Given the description of an element on the screen output the (x, y) to click on. 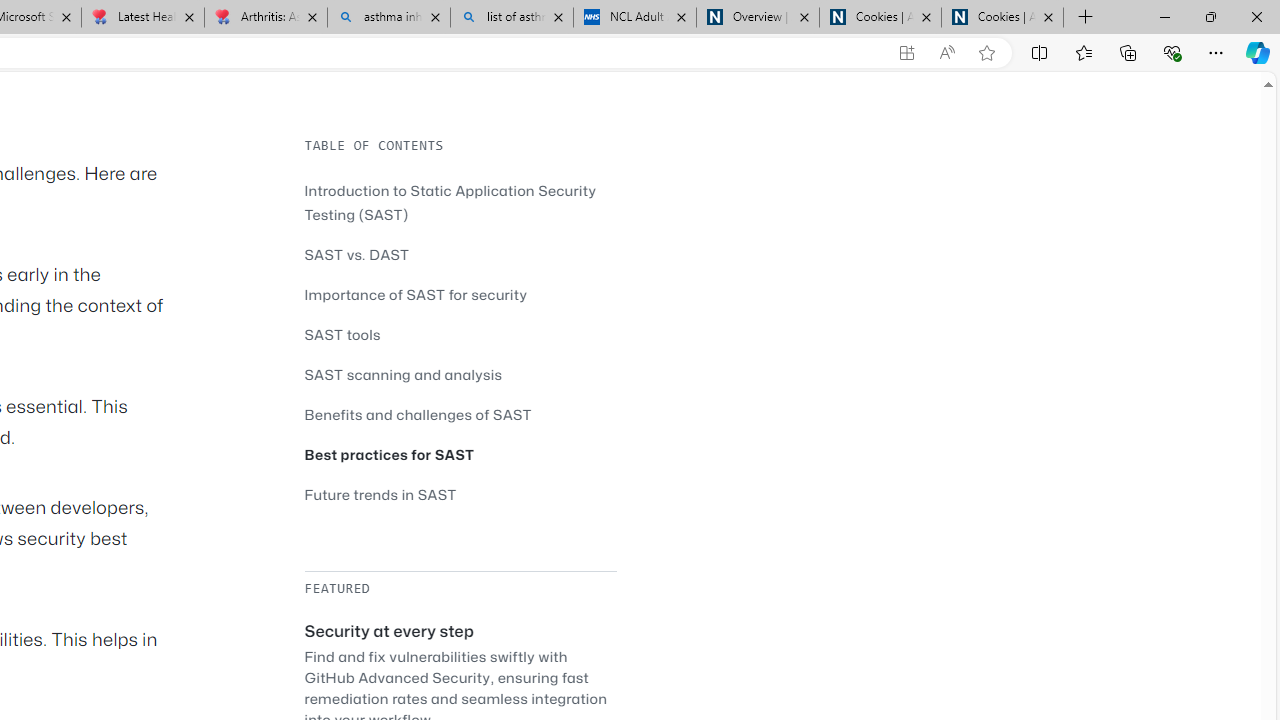
Cookies | About | NICE (1002, 17)
Future trends in SAST (460, 493)
NCL Adult Asthma Inhaler Choice Guideline (634, 17)
asthma inhaler - Search (388, 17)
